Given the description of an element on the screen output the (x, y) to click on. 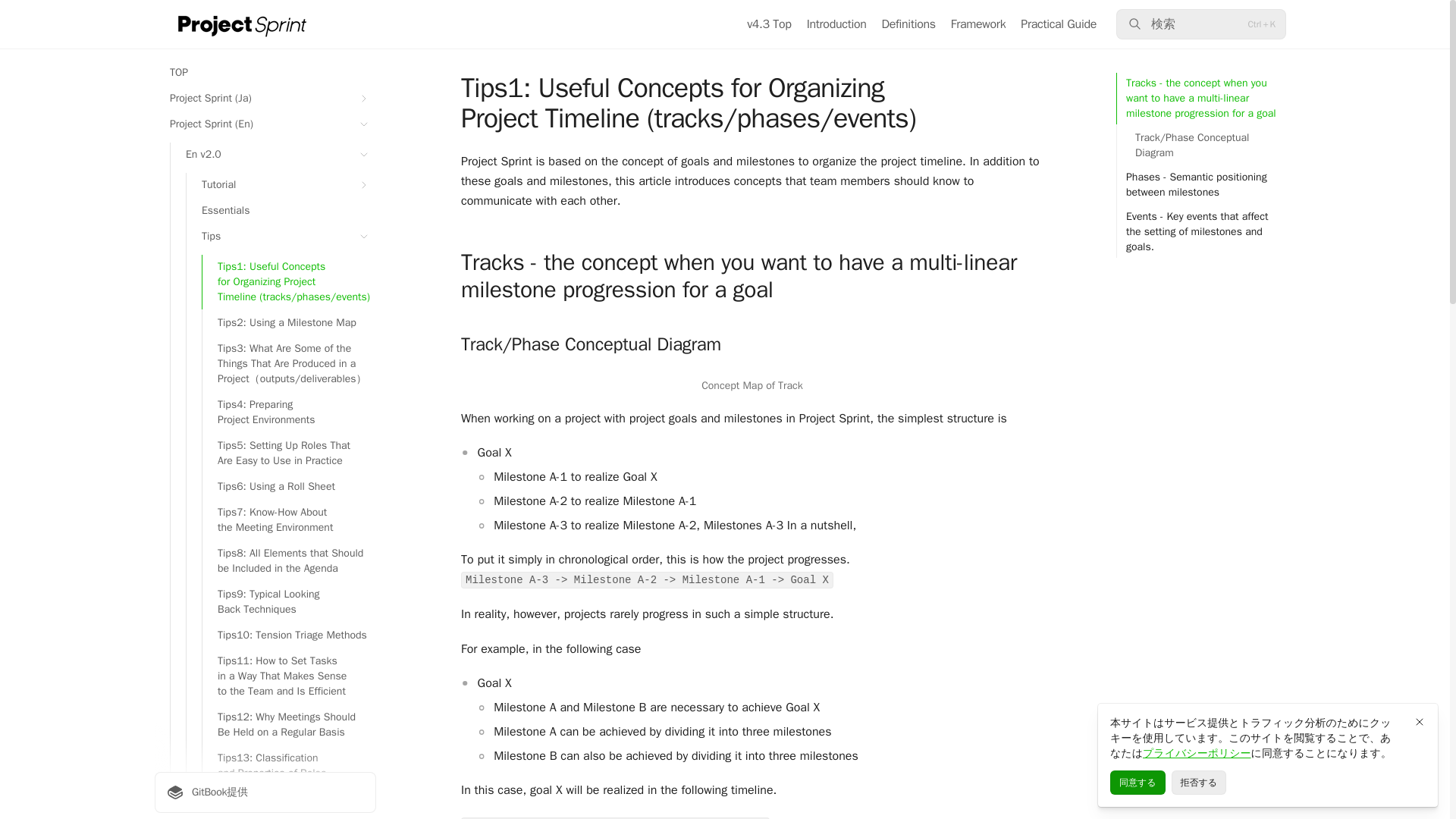
Introduction (836, 24)
Framework (978, 24)
TOP (264, 72)
Practical Guide (1058, 24)
v4.3 Top (769, 24)
Definitions (909, 24)
